Given the description of an element on the screen output the (x, y) to click on. 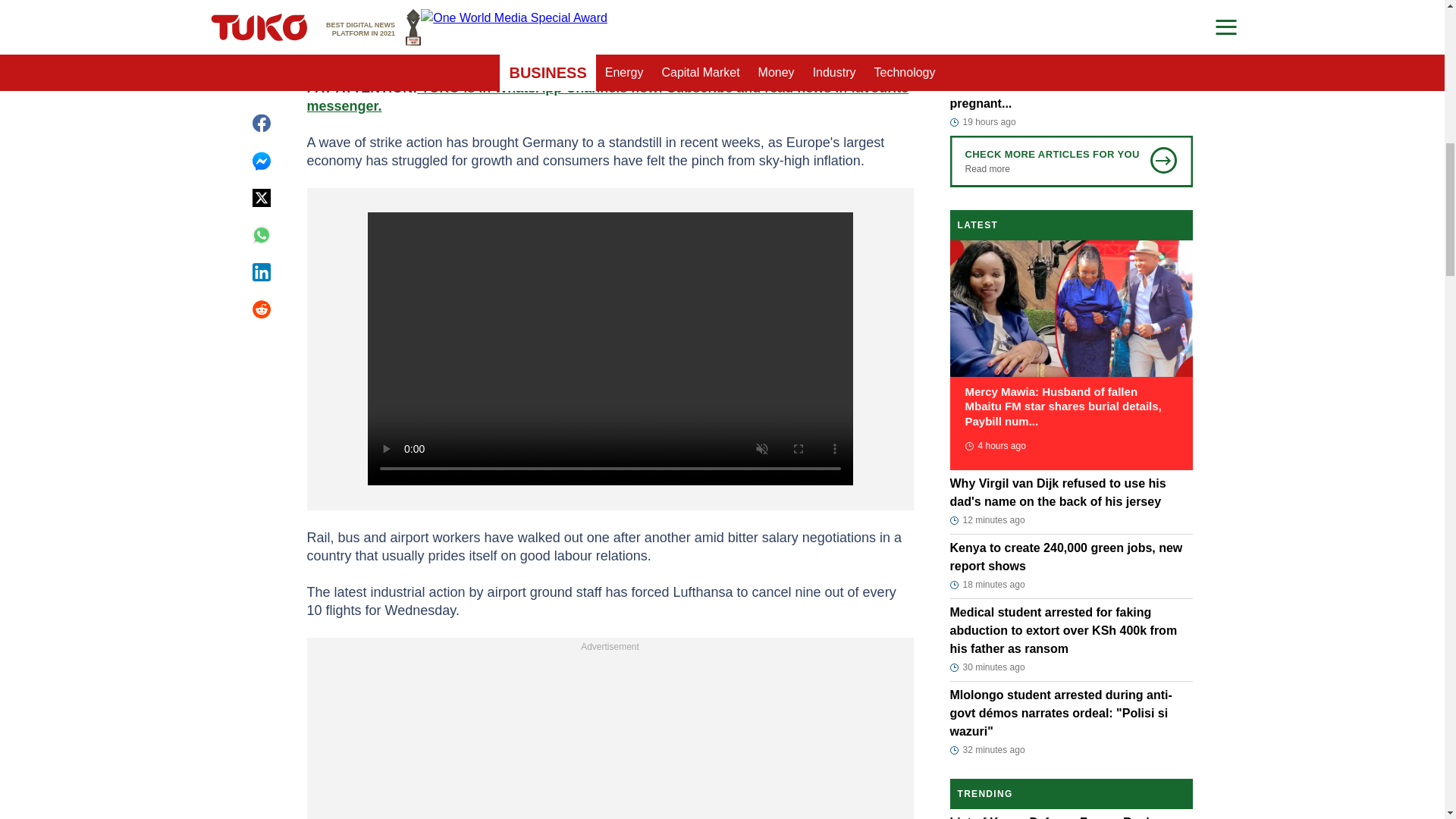
3rd party ad content (609, 737)
